Given the description of an element on the screen output the (x, y) to click on. 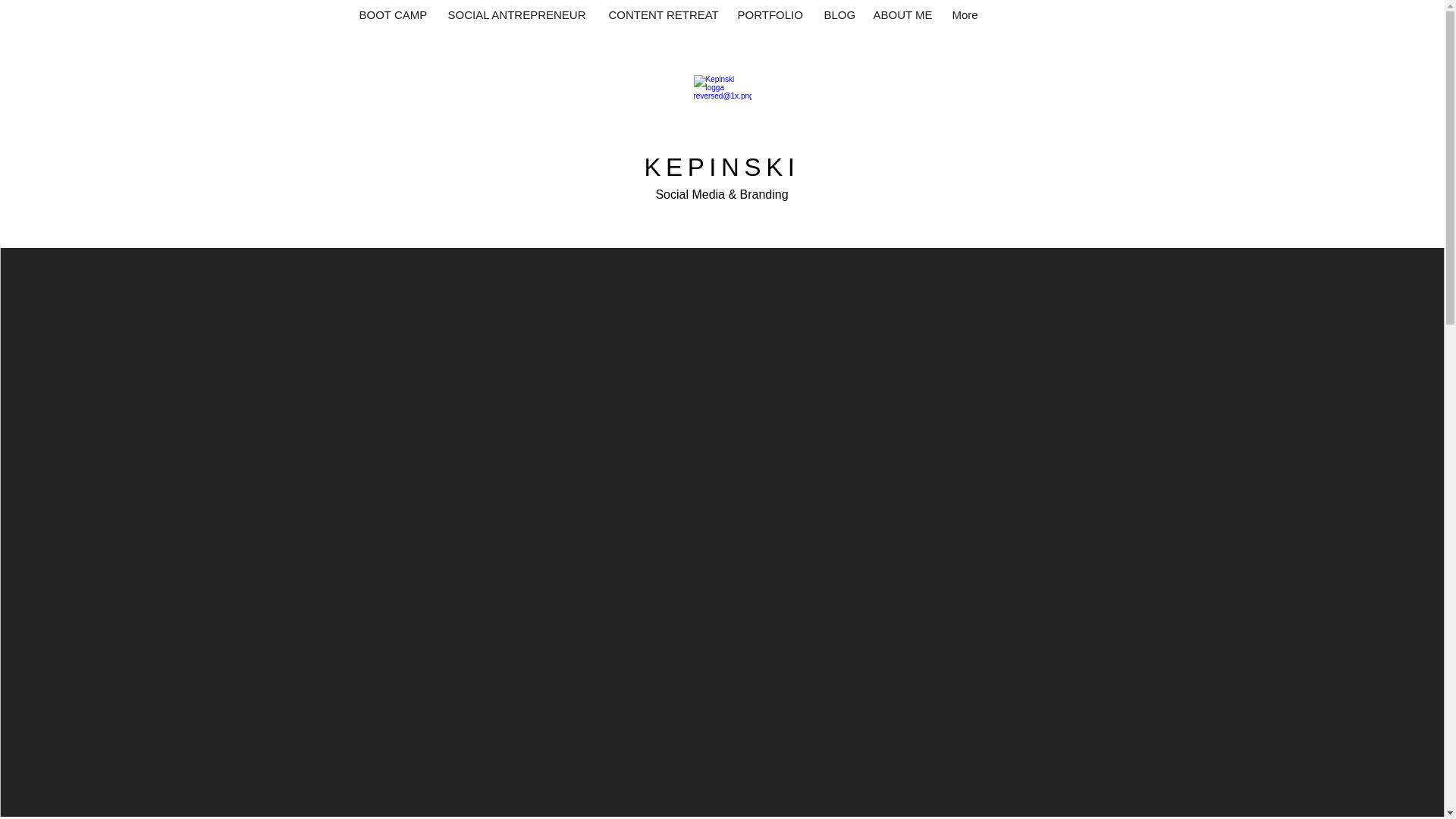
SOCIAL ANTREPRENEUR (519, 15)
ABOUT ME (905, 15)
BOOT CAMP (396, 15)
BLOG (839, 15)
PORTFOLIO (772, 15)
CONTENT RETREAT (664, 15)
